Given the description of an element on the screen output the (x, y) to click on. 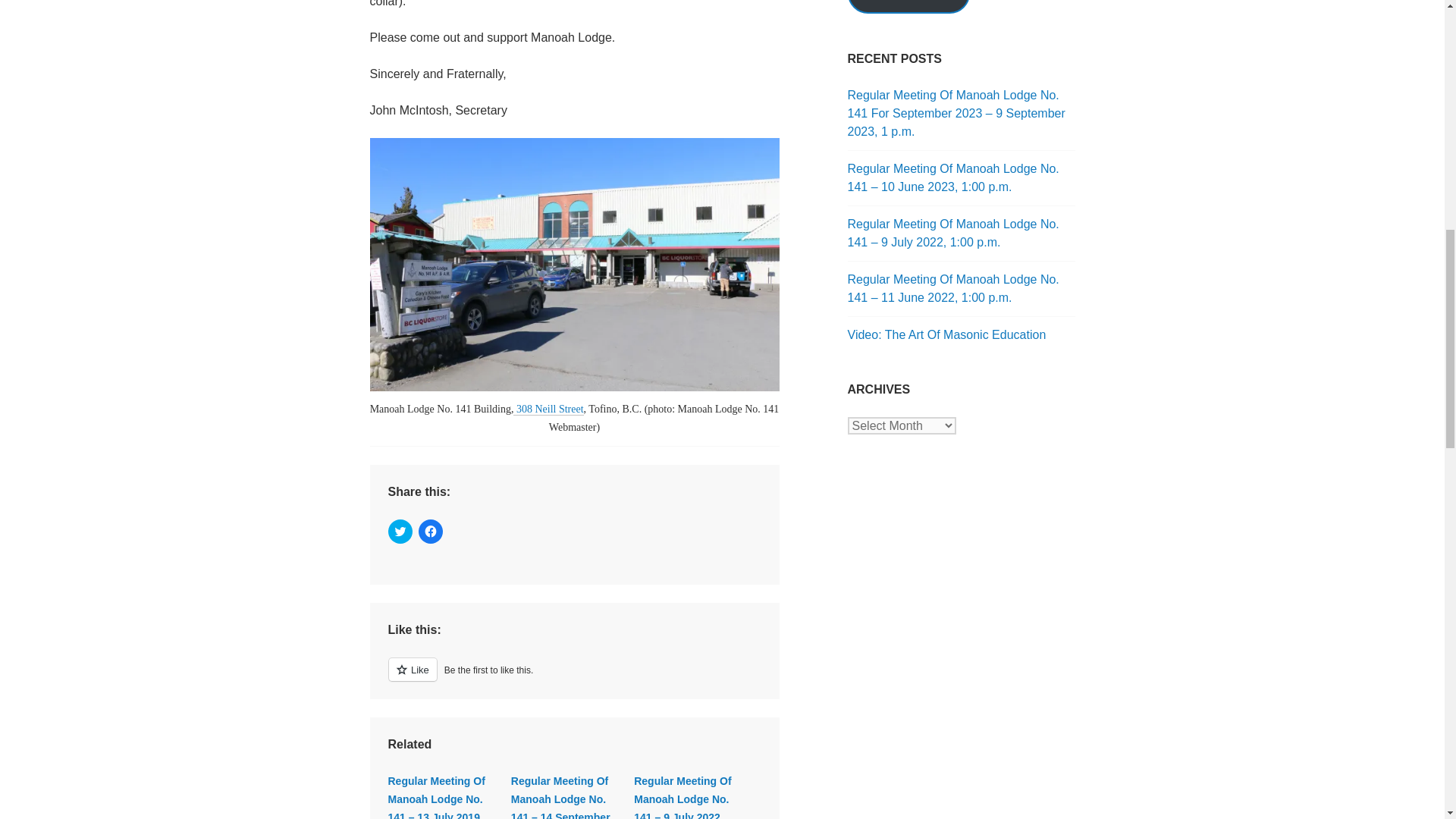
308 Neill Street (548, 409)
Click to share on Facebook (430, 531)
Like or Reblog (574, 678)
Click to share on Twitter (400, 531)
